Given the description of an element on the screen output the (x, y) to click on. 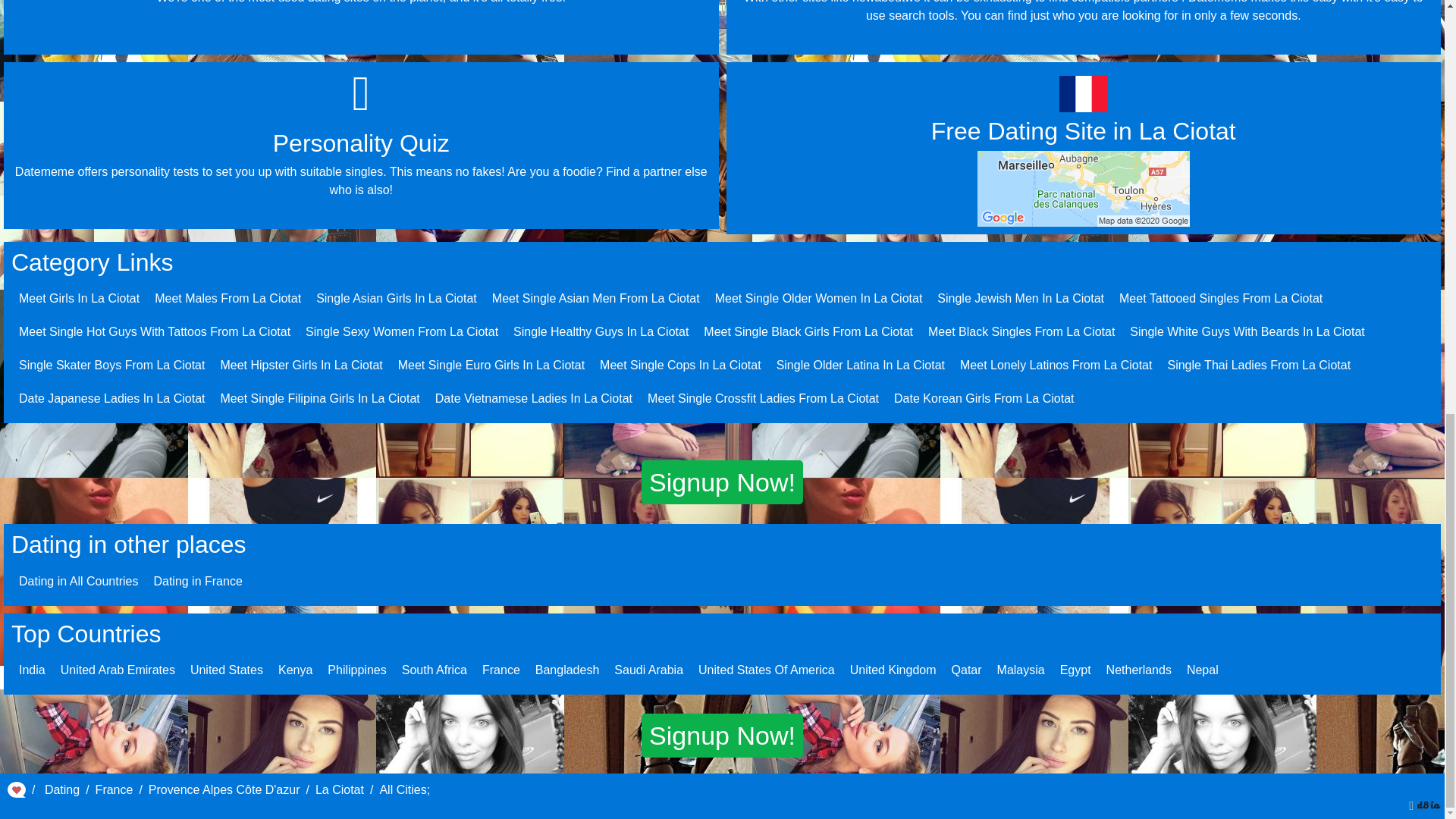
Meet Girls In La Ciotat (78, 297)
Single Asian Girls In La Ciotat (396, 297)
Meet Single Asian Men From La Ciotat (596, 297)
Meet Males From La Ciotat (227, 297)
